Given the description of an element on the screen output the (x, y) to click on. 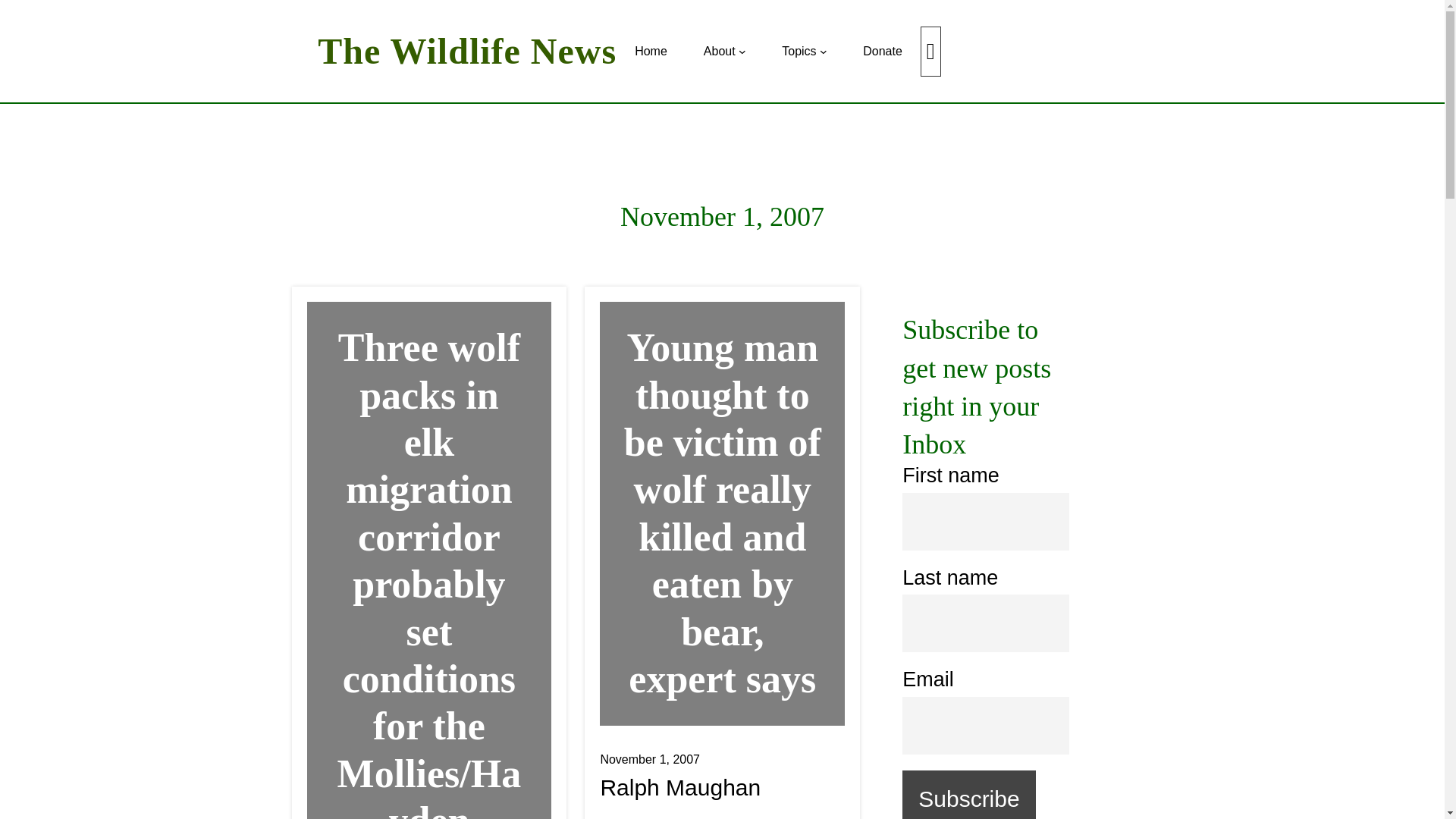
Topics (798, 51)
The Wildlife News (466, 51)
Home (650, 51)
Subscribe (968, 794)
About (719, 51)
